Given the description of an element on the screen output the (x, y) to click on. 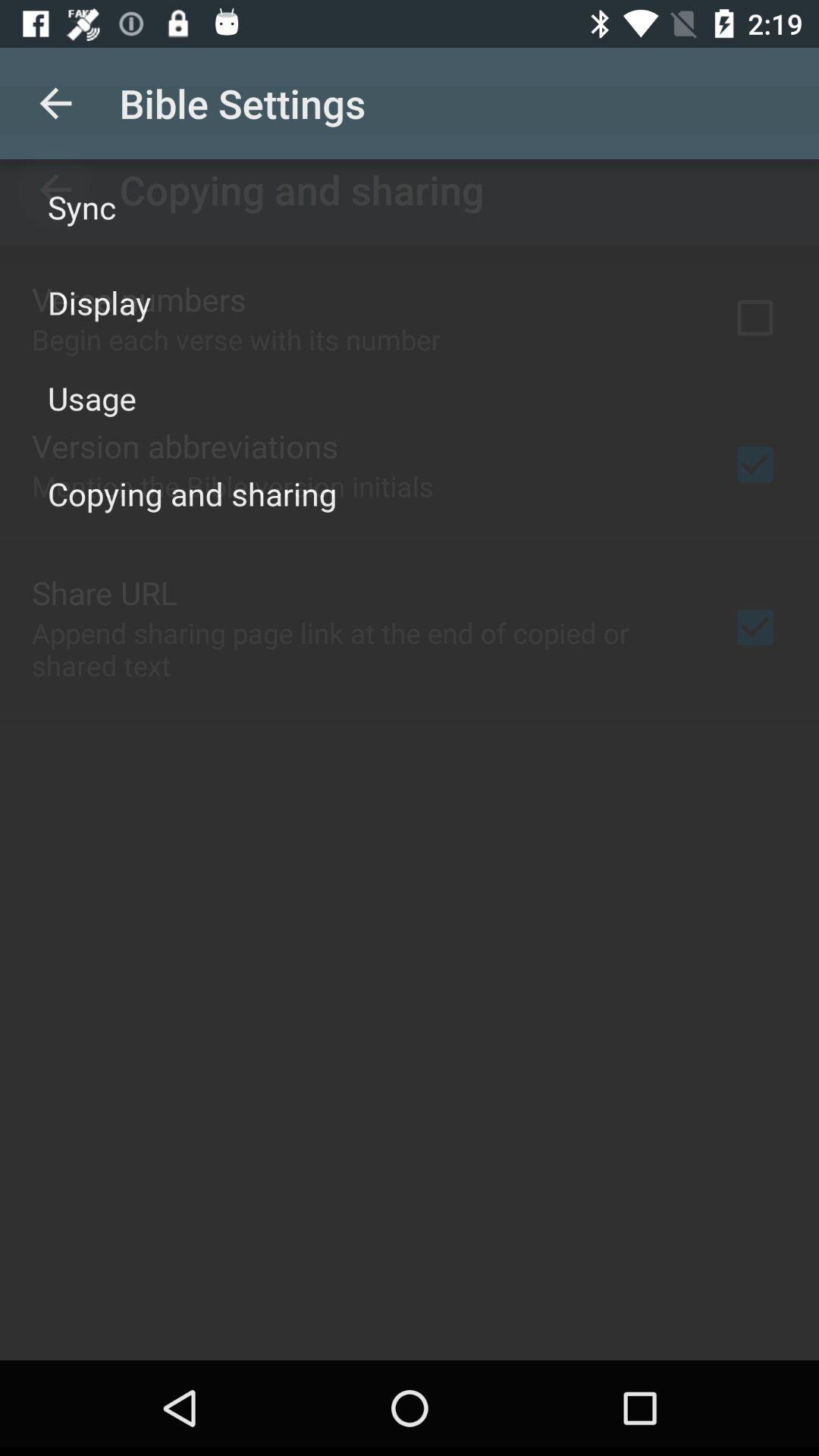
tap the icon below the usage icon (191, 493)
